Given the description of an element on the screen output the (x, y) to click on. 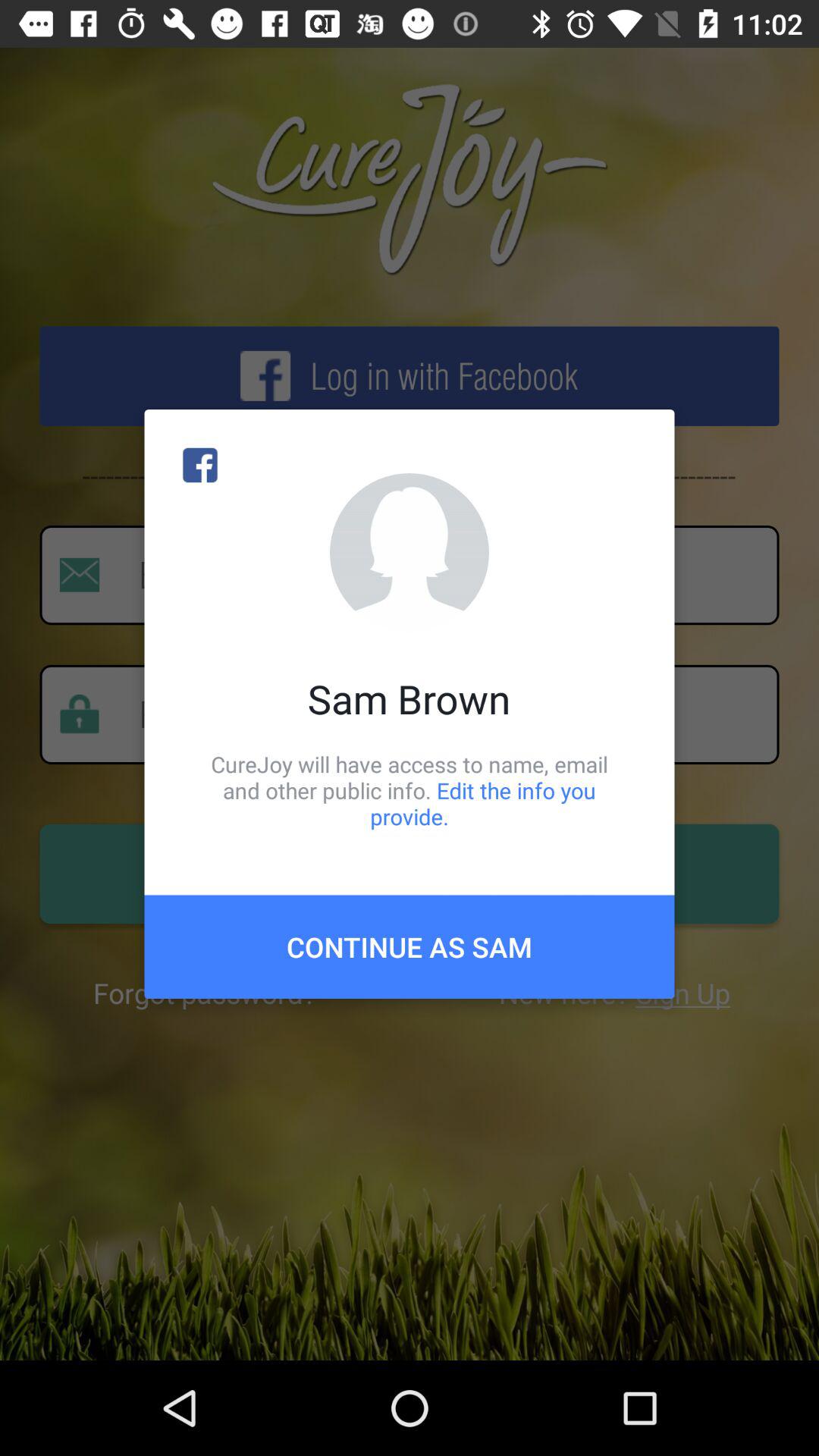
turn off the continue as sam item (409, 946)
